Given the description of an element on the screen output the (x, y) to click on. 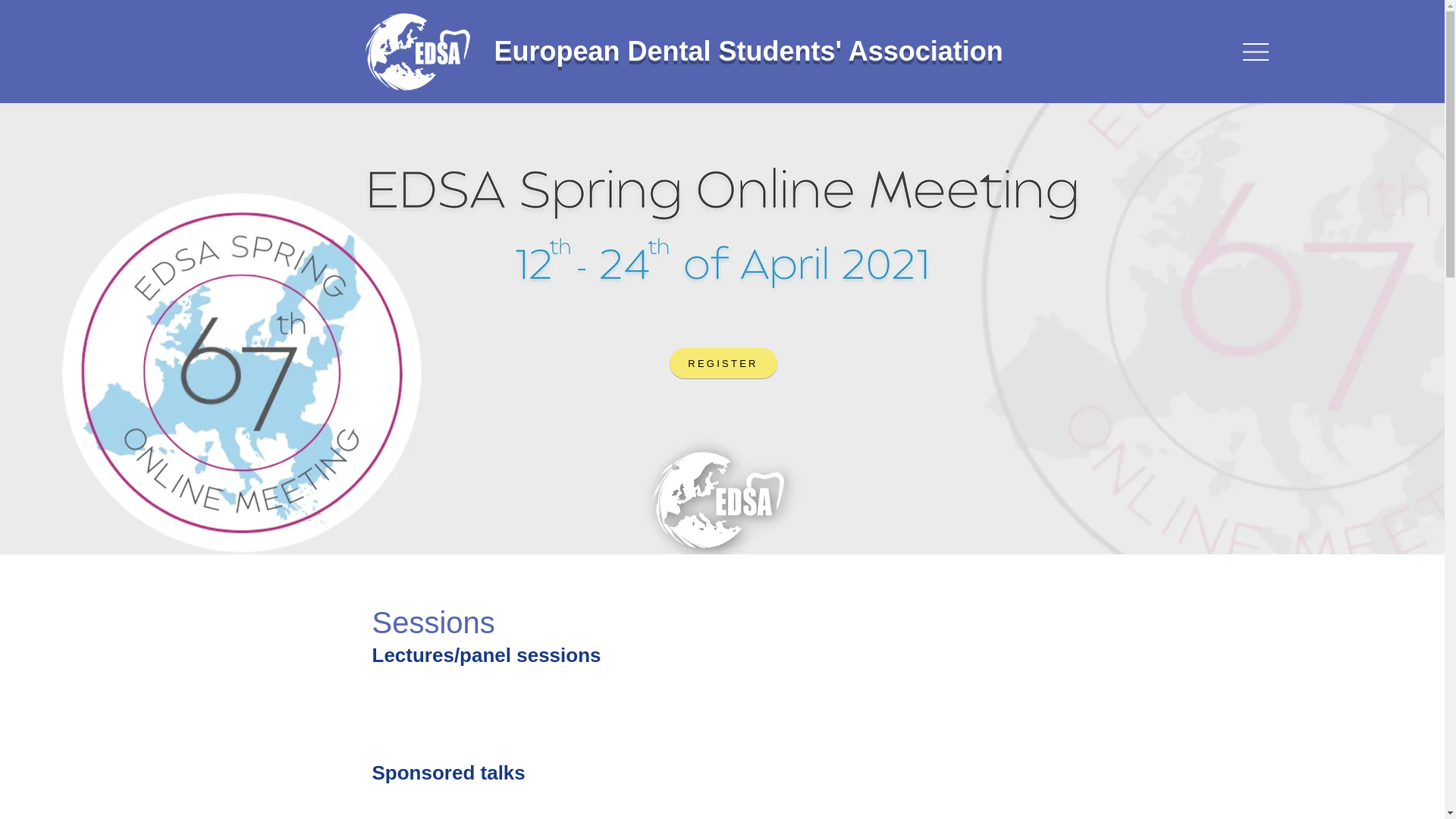
REGISTER (722, 363)
Hu-Friedy (450, 795)
Curaden (445, 813)
